Given the description of an element on the screen output the (x, y) to click on. 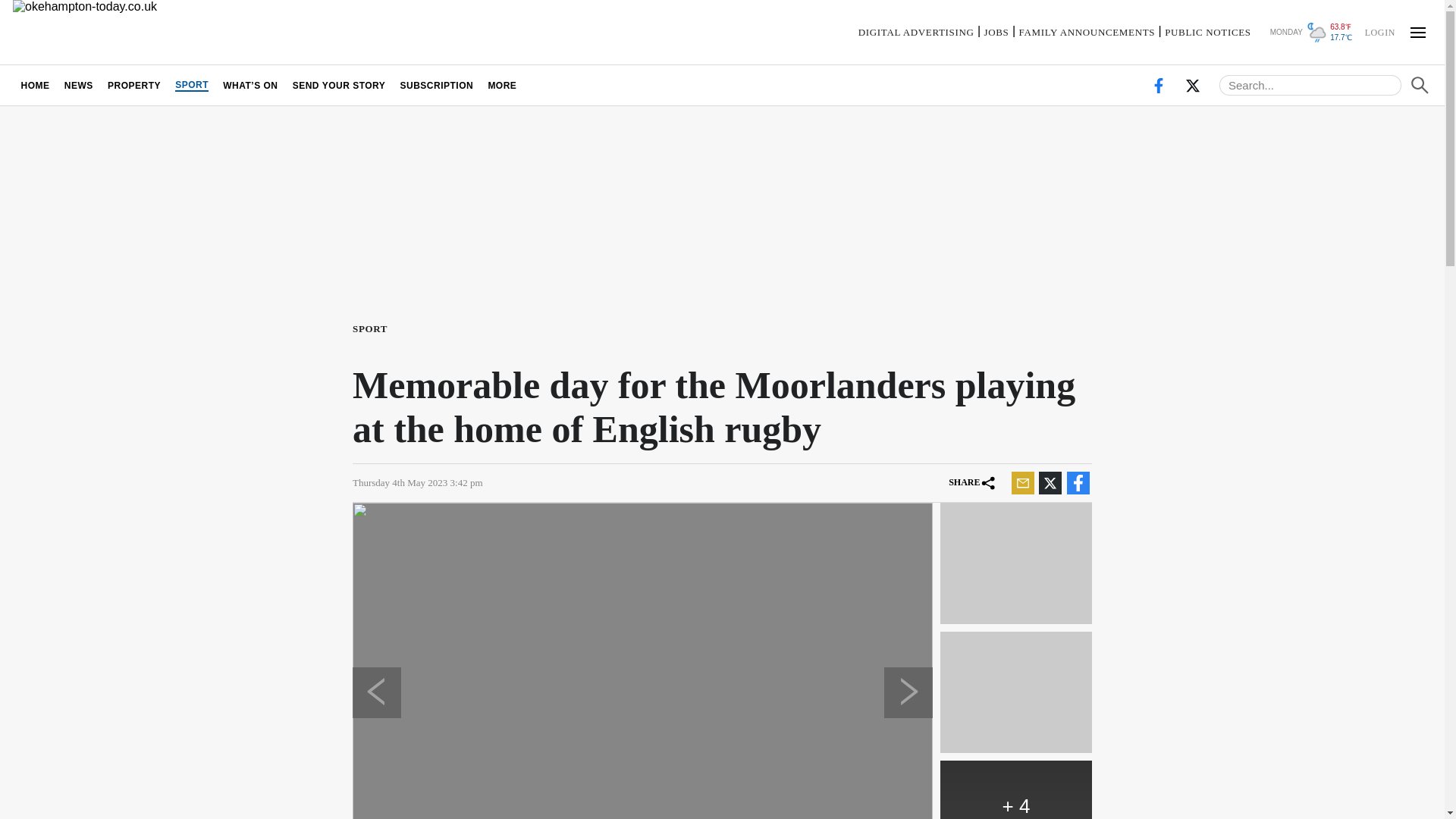
SUBSCRIPTION (436, 85)
PROPERTY (133, 85)
SEND YOUR STORY (339, 85)
HOME (34, 85)
MORE (502, 85)
PUBLIC NOTICES (1207, 32)
NEWS (78, 85)
LOGIN (1379, 31)
SPORT (191, 85)
SPORT (372, 328)
